Given the description of an element on the screen output the (x, y) to click on. 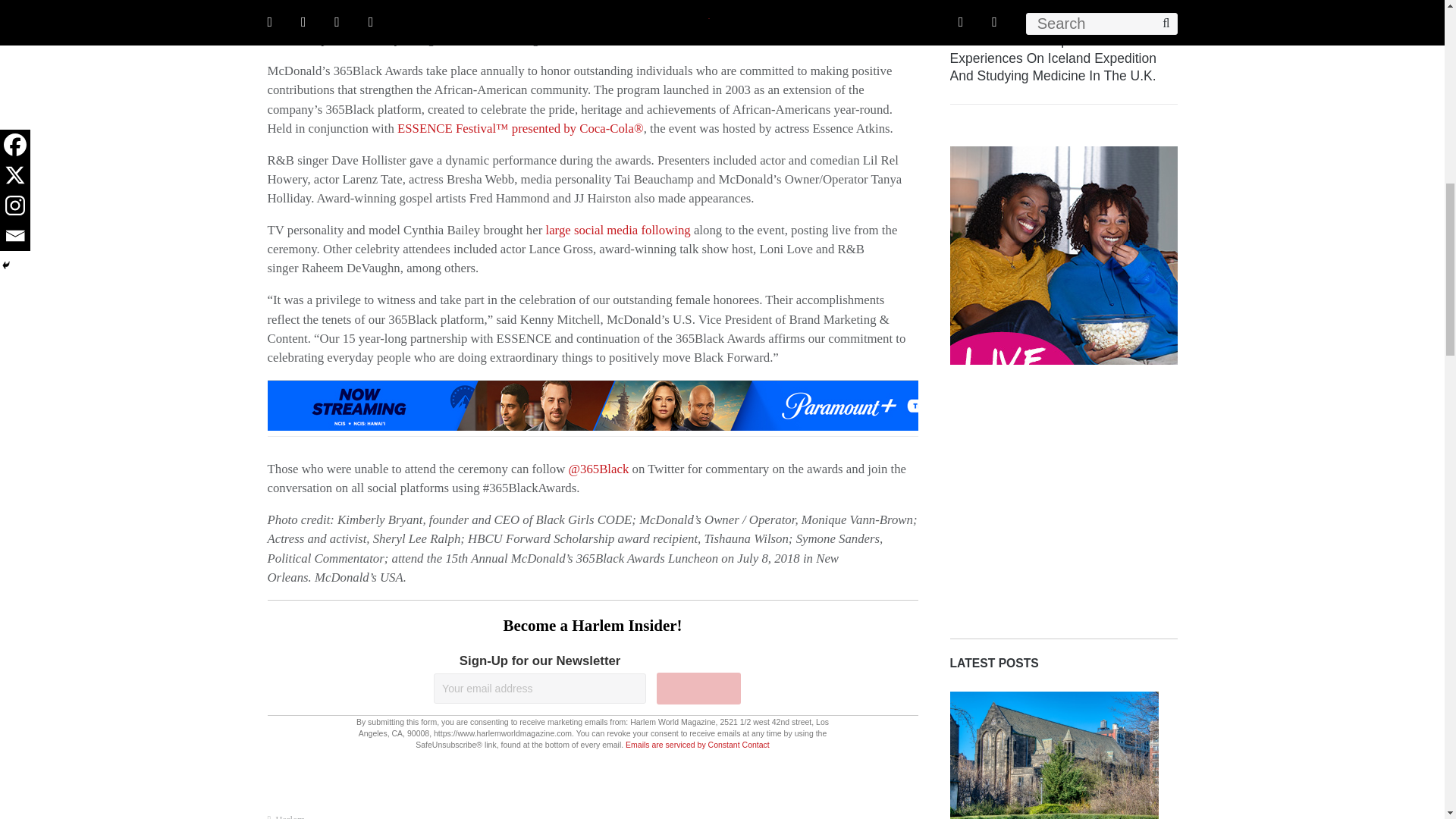
Emails are serviced by Constant Contact (698, 744)
large social media following (617, 229)
Harlem (289, 816)
Sign up (698, 688)
Sign up (698, 688)
